Given the description of an element on the screen output the (x, y) to click on. 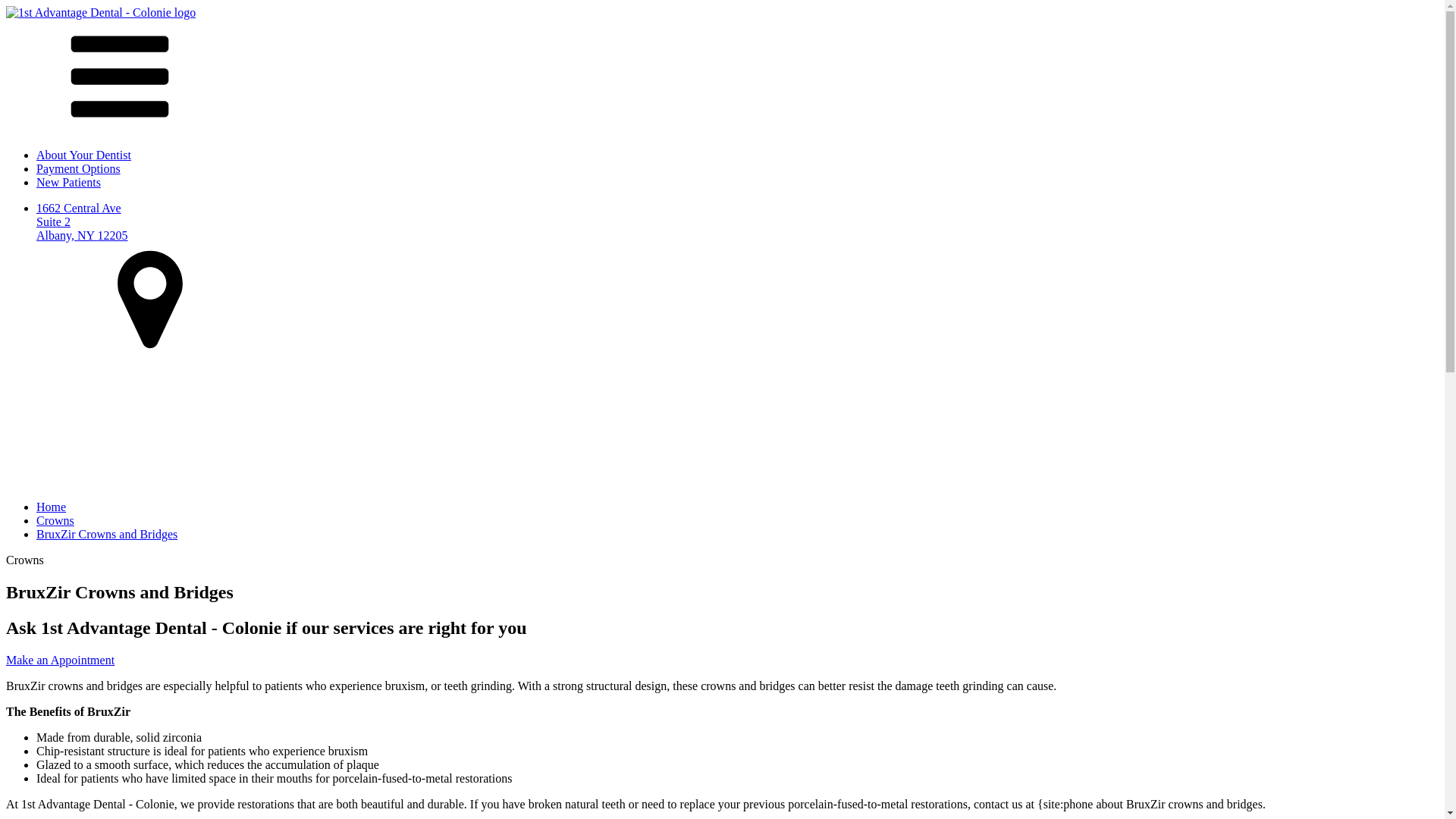
Crowns Element type: text (55, 520)
Home Element type: text (50, 506)
New Patients Element type: text (68, 181)
BruxZir Crowns and Bridges Element type: text (106, 533)
1662 Central Ave
Suite 2
Albany, NY 12205 Element type: text (737, 279)
Payment Options Element type: text (78, 168)
Make an Appointment Element type: text (60, 659)
About Your Dentist Element type: text (83, 154)
